Given the description of an element on the screen output the (x, y) to click on. 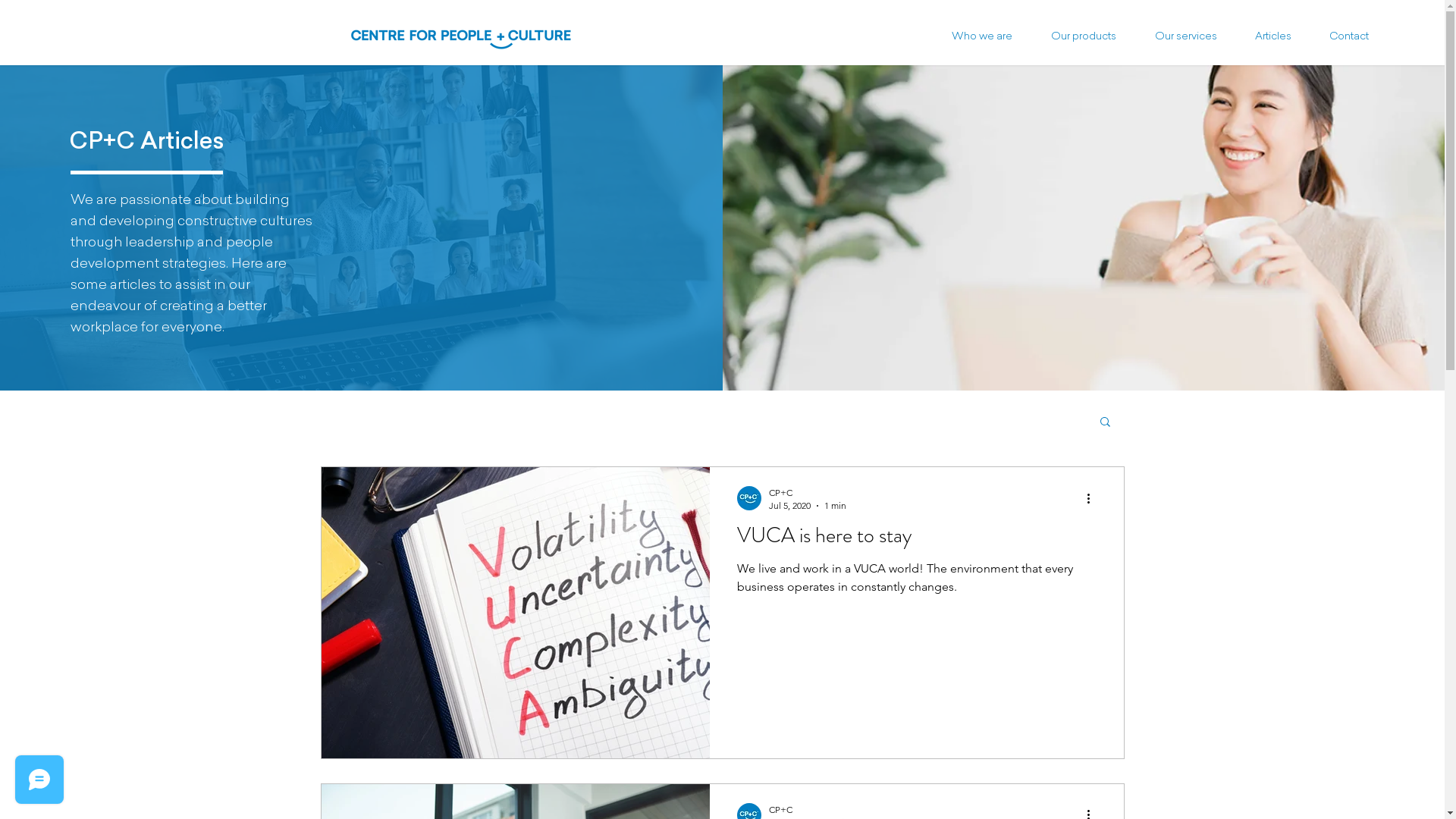
VUCA is here to stay Element type: text (916, 539)
Contact Element type: text (1356, 36)
Articles Element type: text (1280, 36)
